Given the description of an element on the screen output the (x, y) to click on. 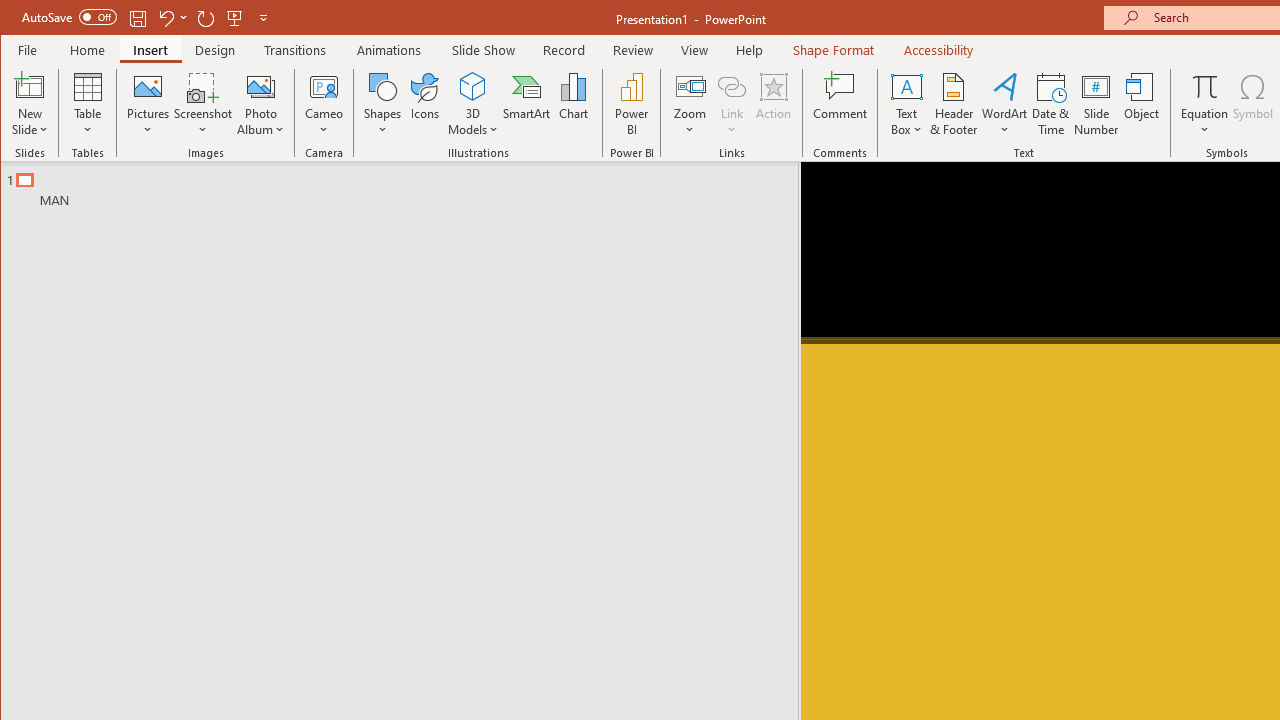
Table (87, 104)
Symbol... (1253, 104)
WordArt (1005, 104)
Screenshot (203, 104)
Object... (1142, 104)
